Given the description of an element on the screen output the (x, y) to click on. 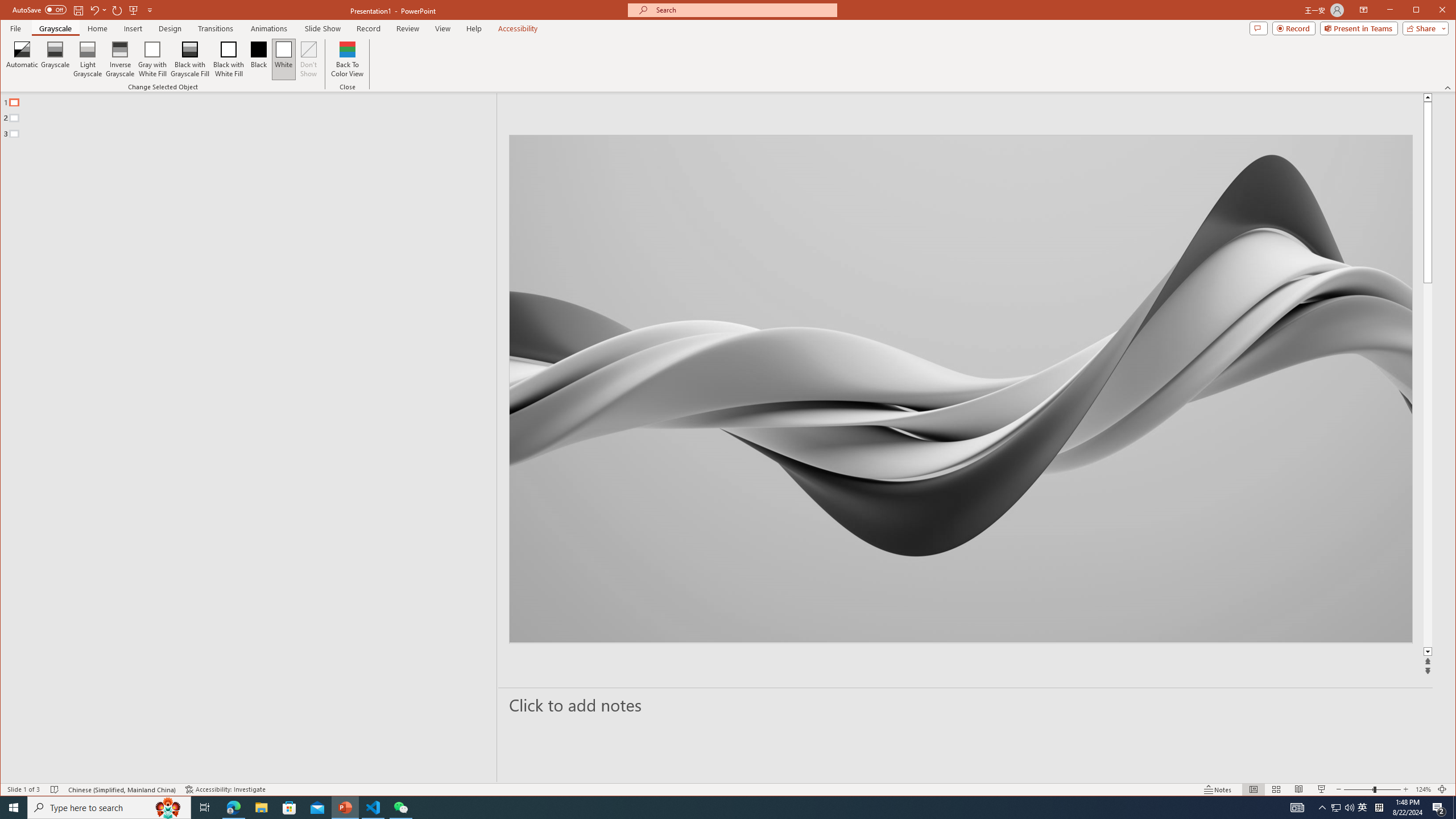
Light Grayscale (87, 59)
Wavy 3D art (960, 388)
